Given the description of an element on the screen output the (x, y) to click on. 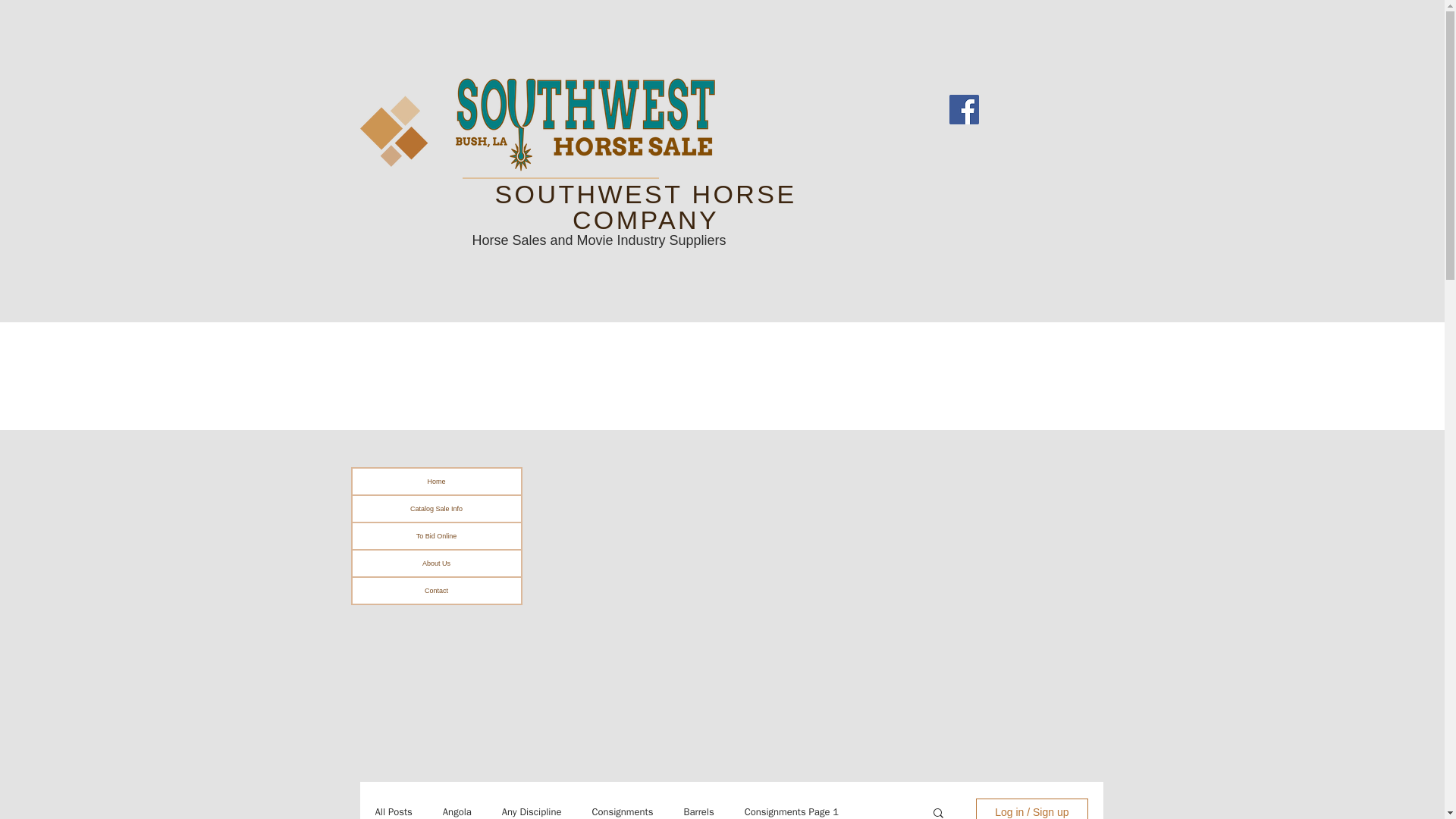
About Us (435, 563)
Consignments (621, 812)
Contact (435, 590)
Home (435, 481)
All Posts (393, 812)
Angola (456, 812)
Catalog Sale Info (435, 508)
Barrels (697, 812)
To Bid Online (435, 535)
Any Discipline (532, 812)
Consignments Page 1 (791, 812)
